Given the description of an element on the screen output the (x, y) to click on. 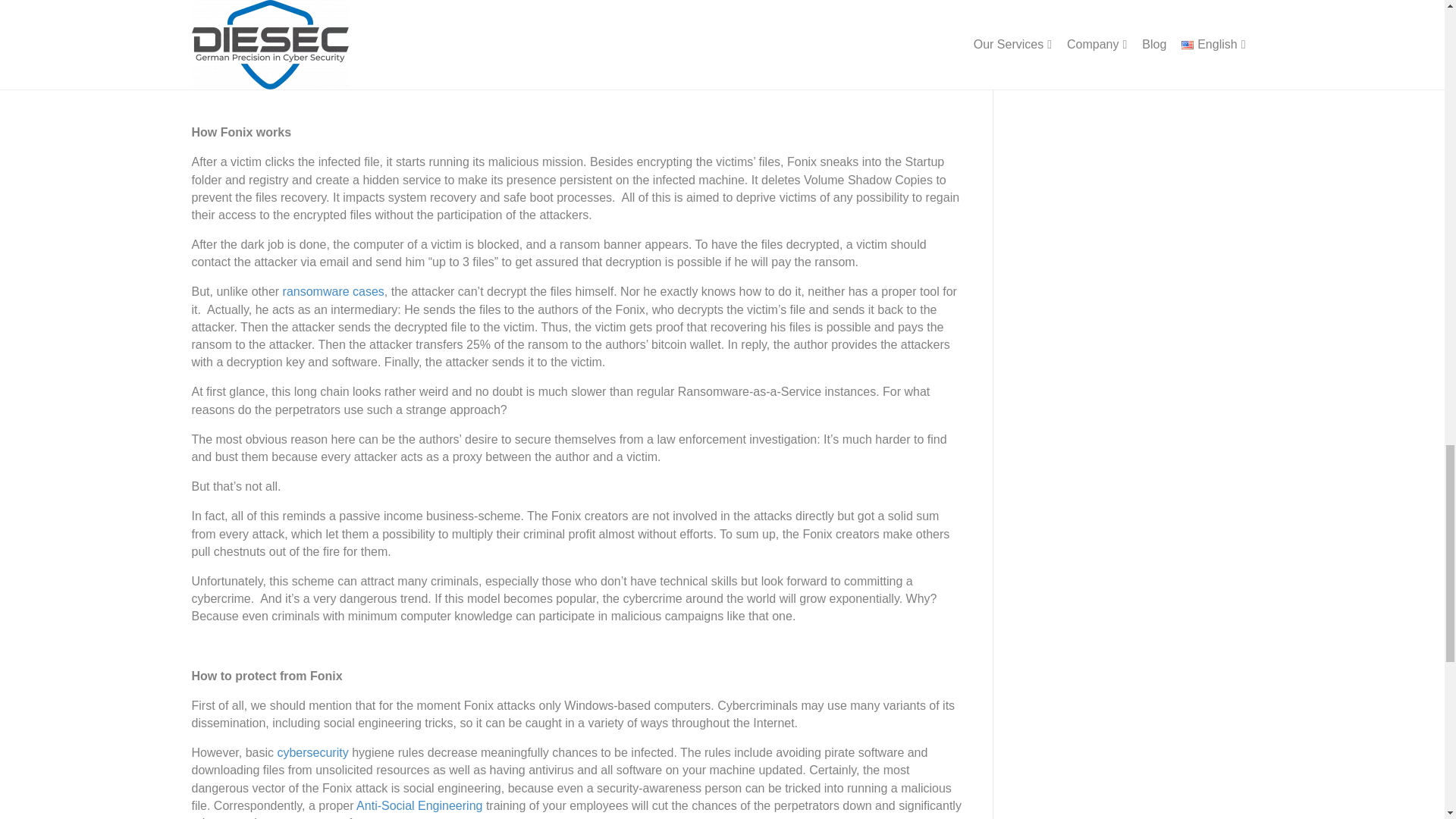
cybersecurity (311, 752)
ransomware cases (333, 291)
Anti-Social Engineering (418, 805)
